Given the description of an element on the screen output the (x, y) to click on. 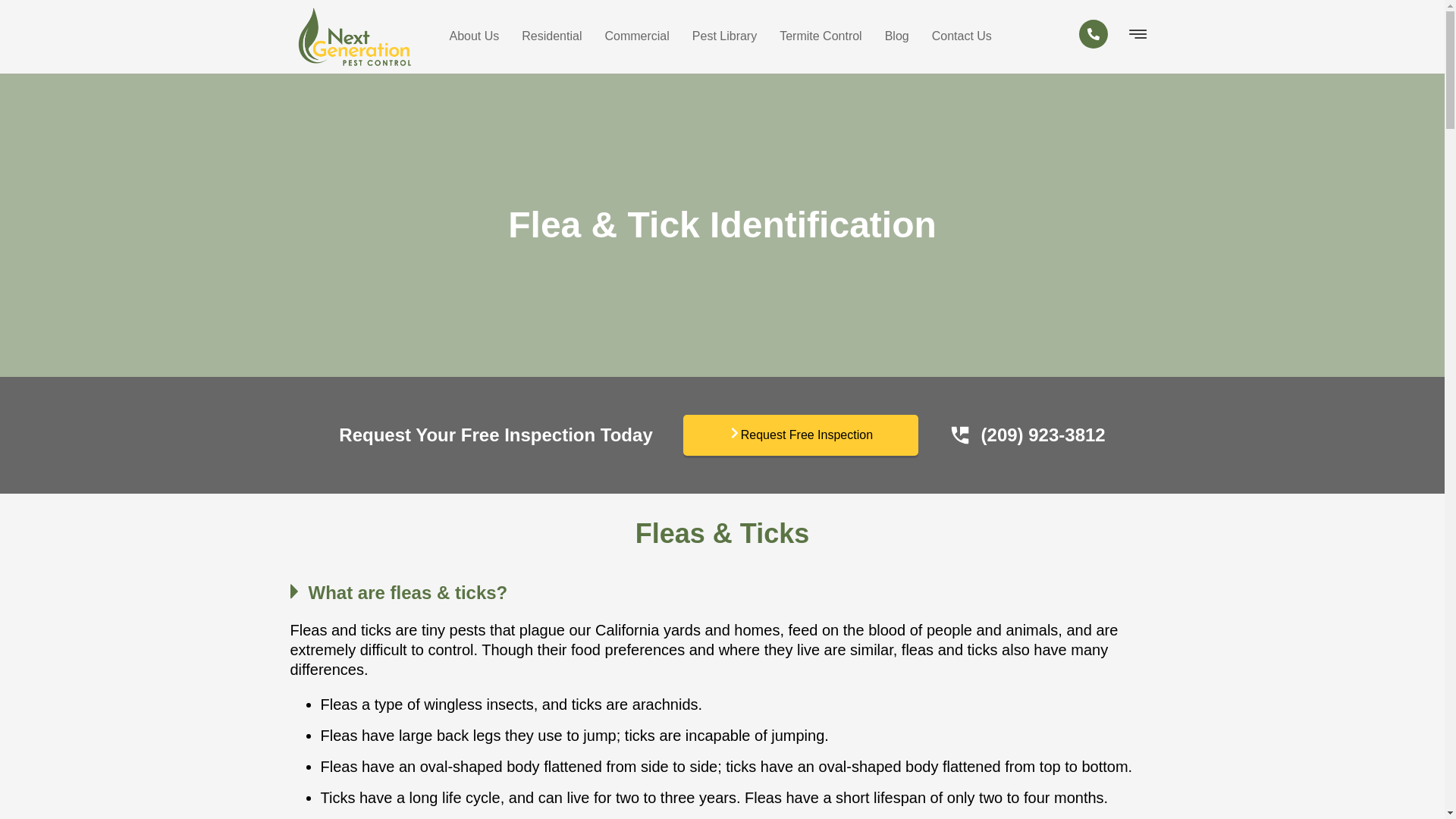
Pest Library (725, 36)
Contact Us (961, 36)
Commercial (636, 36)
Termite Control (819, 36)
Request Free Inspection (800, 434)
Residential (550, 36)
About Us (473, 36)
